Given the description of an element on the screen output the (x, y) to click on. 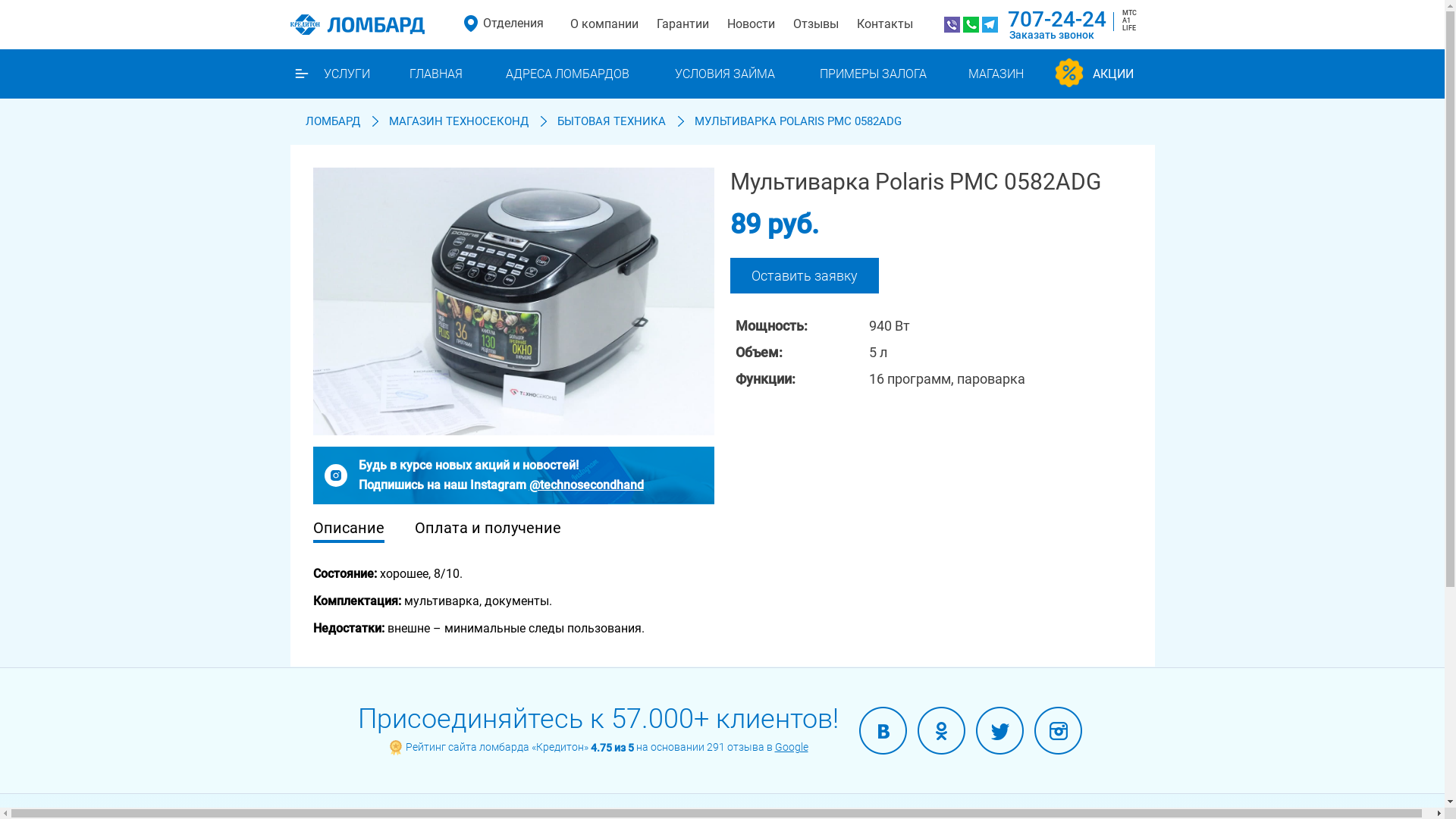
707-24-24 Element type: text (1056, 18)
Google Element type: text (791, 746)
@technosecondhand Element type: text (586, 484)
